Given the description of an element on the screen output the (x, y) to click on. 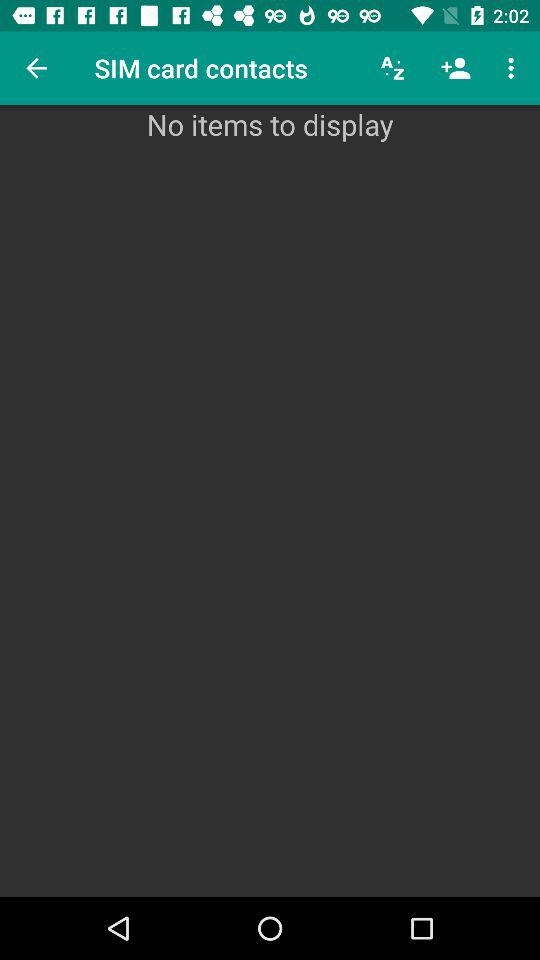
tap the icon above the no items to icon (455, 67)
